Given the description of an element on the screen output the (x, y) to click on. 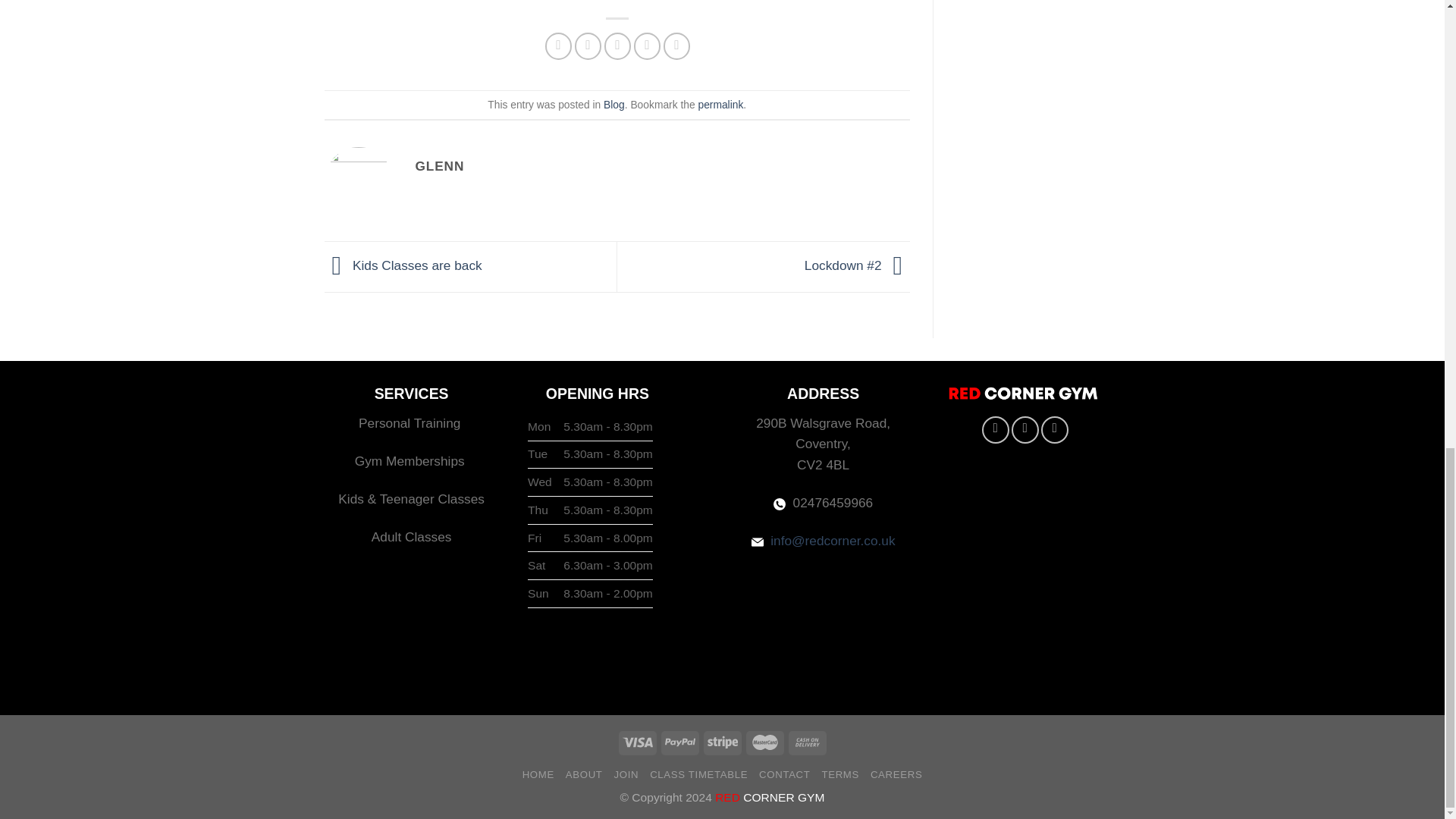
Share on Tumblr (676, 45)
permalink (719, 104)
Pin on Pinterest (647, 45)
Permalink to Kids Boxing Gradings (719, 104)
Kids Classes are back (402, 265)
Share on Facebook (558, 45)
Blog (614, 104)
Share on Twitter (588, 45)
Email to a Friend (617, 45)
